Given the description of an element on the screen output the (x, y) to click on. 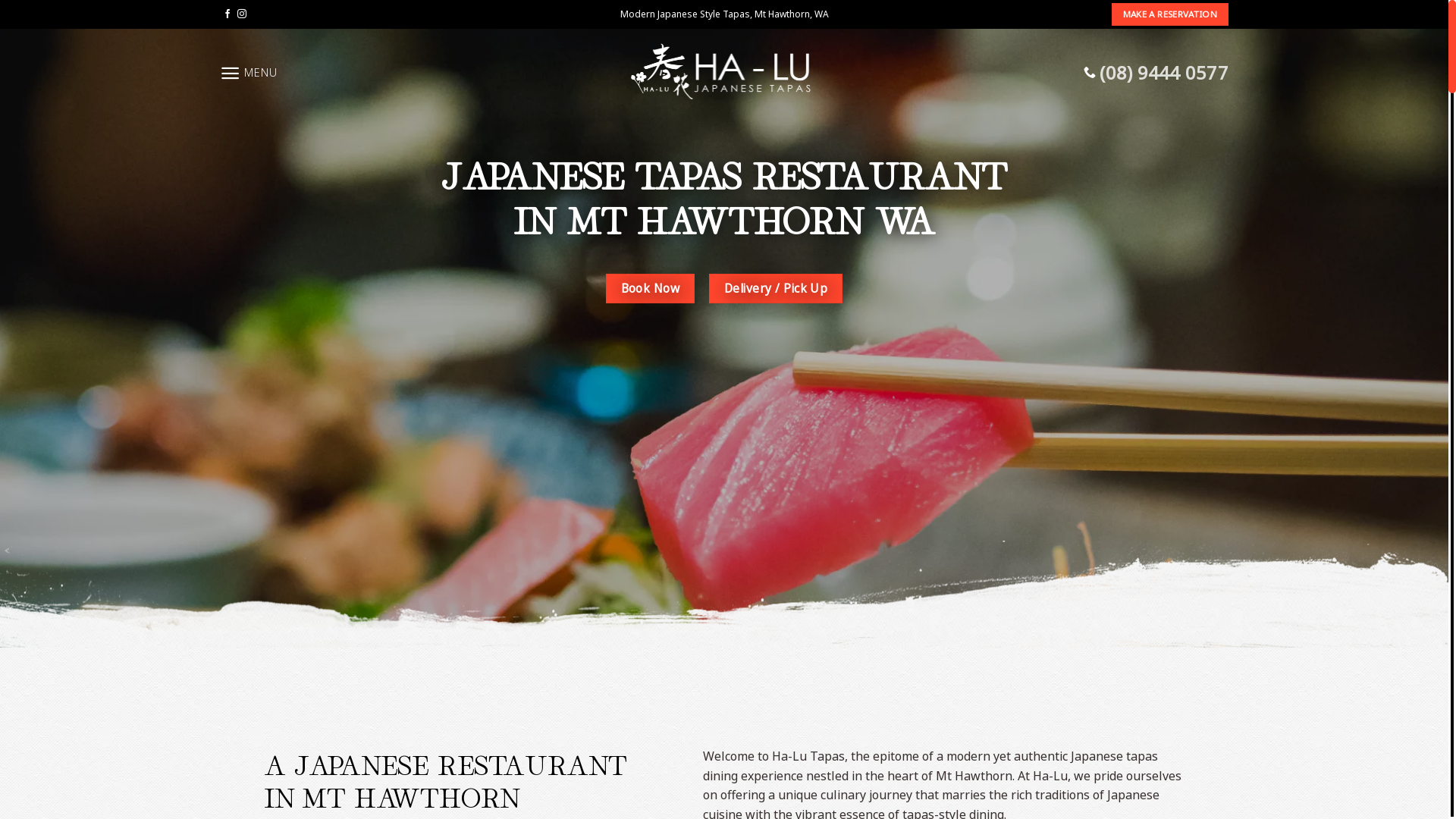
(08) 9444 0577 Element type: text (1155, 72)
Follow on Facebook Element type: hover (227, 14)
Follow on Instagram Element type: hover (241, 14)
MAKE A RESERVATION Element type: text (1169, 14)
Book Now Element type: text (649, 288)
Delivery / Pick Up Element type: text (775, 288)
MENU Element type: text (247, 73)
